Given the description of an element on the screen output the (x, y) to click on. 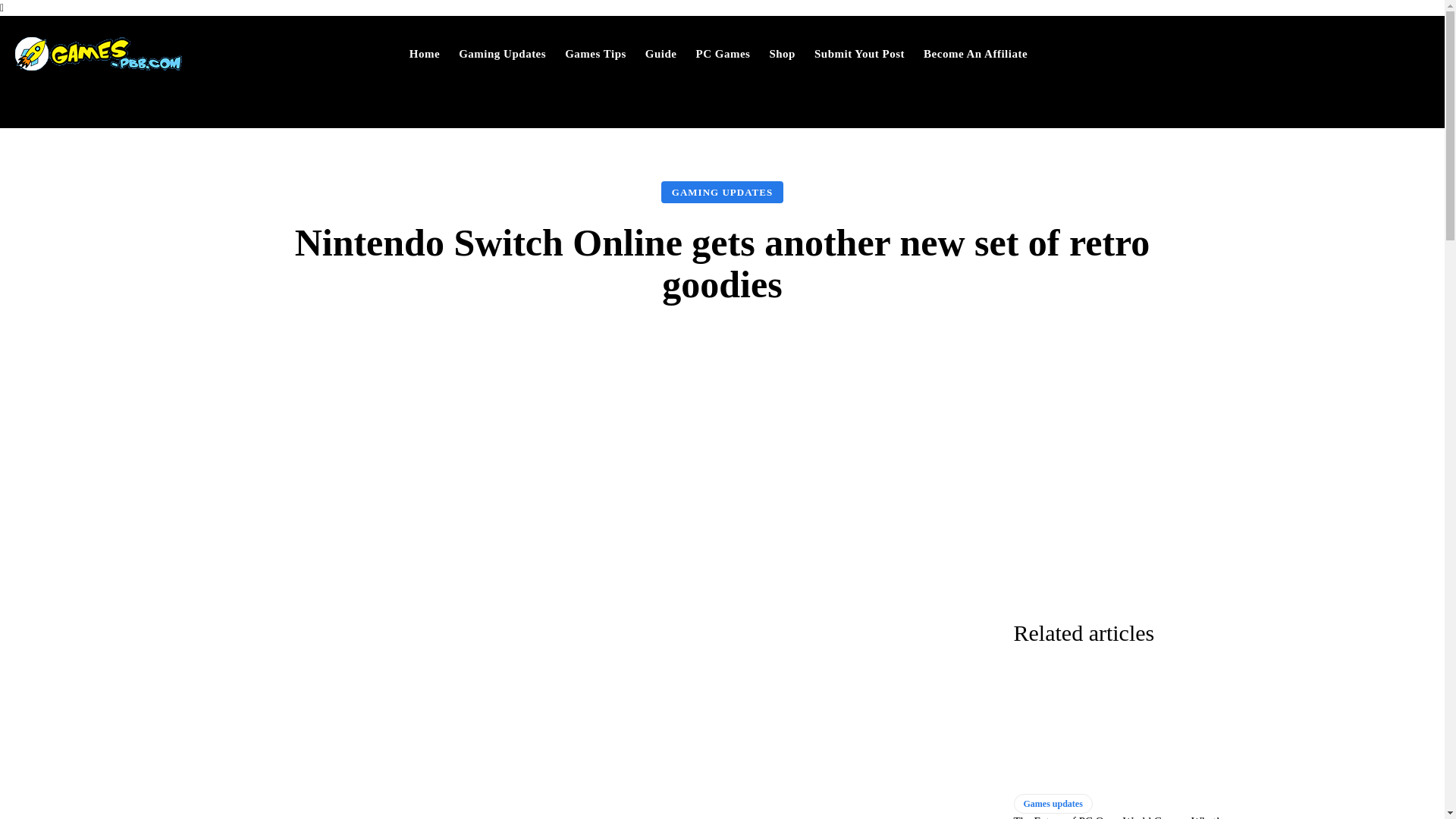
Become An Affiliate (975, 53)
PC Games (723, 53)
GAMING UPDATES (722, 191)
Submit Yout Post (859, 53)
Games Tips (595, 53)
Gaming Updates (502, 53)
